Given the description of an element on the screen output the (x, y) to click on. 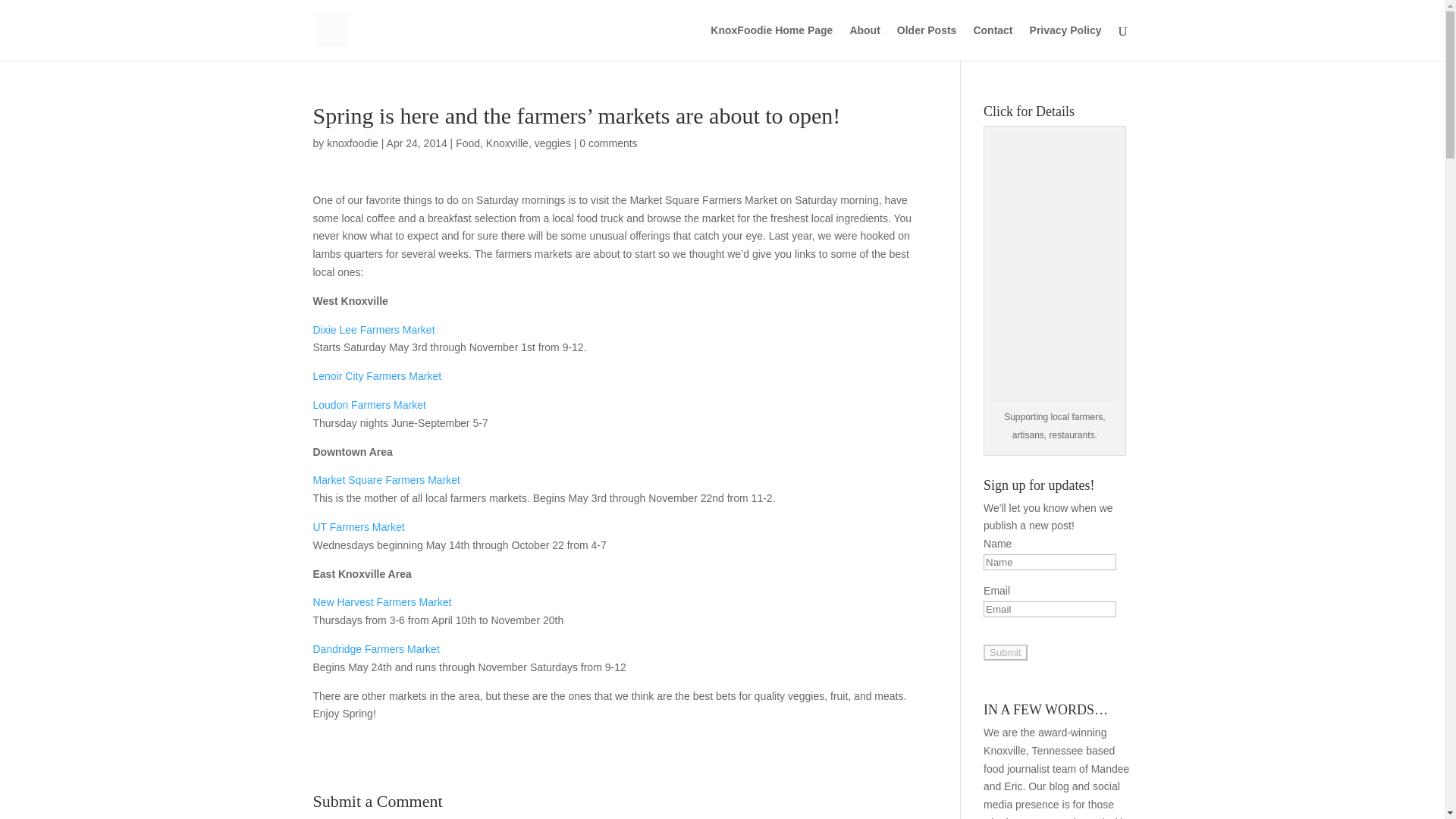
Knoxville (507, 143)
UT Farmers Market (358, 526)
Lenoir City Farmers Market (377, 376)
Contact (991, 42)
veggies (552, 143)
Food (467, 143)
Dixie Lee Farmers Market (373, 329)
knoxfoodie (352, 143)
KnoxFoodie Home Page (771, 42)
Older Posts (926, 42)
